Given the description of an element on the screen output the (x, y) to click on. 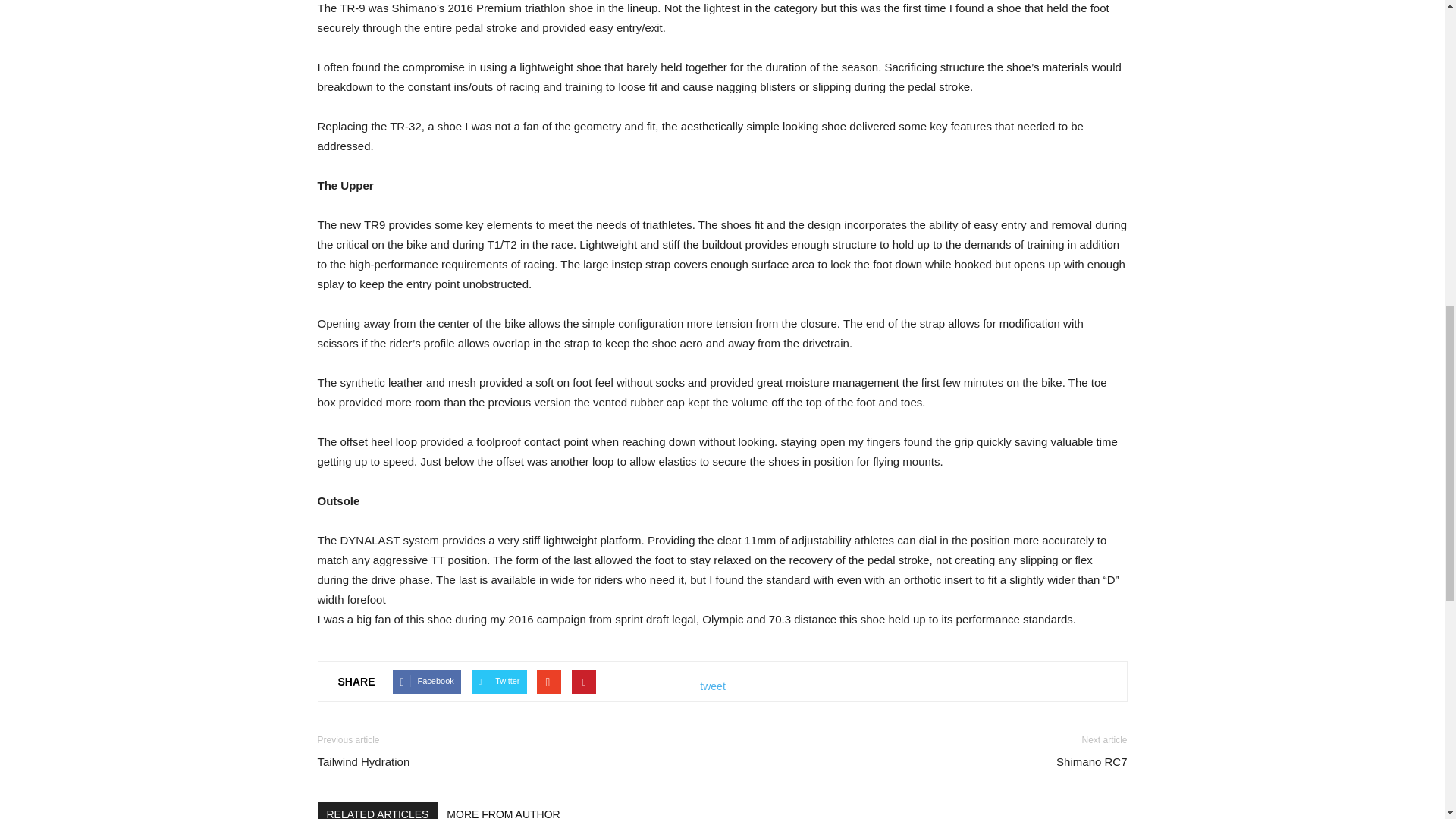
Facebook (426, 681)
Twitter (499, 681)
tweet (712, 686)
Shimano RC7 (1091, 761)
Tailwind Hydration (363, 761)
